Given the description of an element on the screen output the (x, y) to click on. 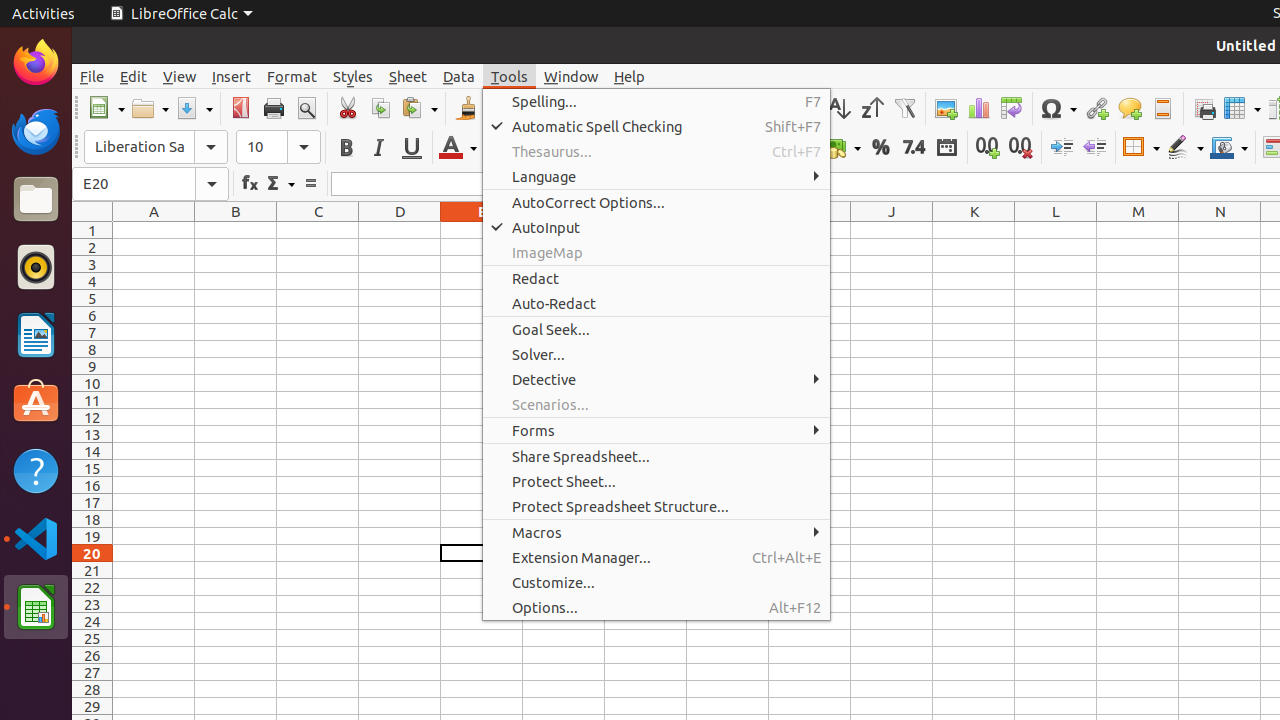
Print Element type: push-button (273, 108)
Files Element type: push-button (36, 199)
Formula Element type: push-button (310, 183)
Borders (Shift to overwrite) Element type: push-button (1141, 147)
Decrease Element type: push-button (1094, 147)
